Given the description of an element on the screen output the (x, y) to click on. 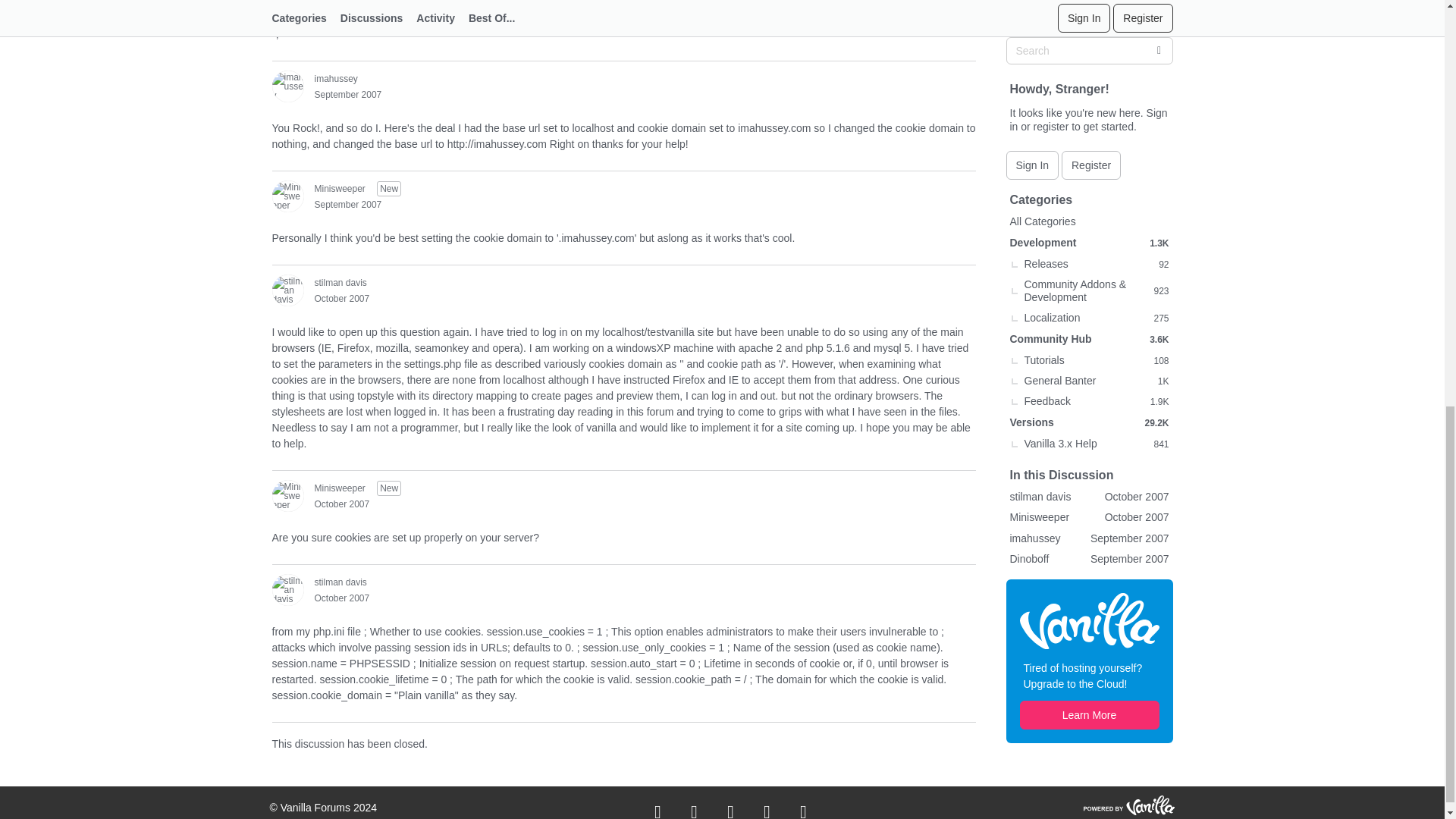
September 27, 2007 2:16PM (347, 94)
Powered By Vanilla (1128, 804)
October 14, 2007 6:46PM (341, 298)
New (389, 188)
September 28, 2007 2:17AM (347, 204)
Minisweeper (286, 196)
stilman davis (286, 290)
Minisweeper (286, 495)
imahussey (286, 86)
